Given the description of an element on the screen output the (x, y) to click on. 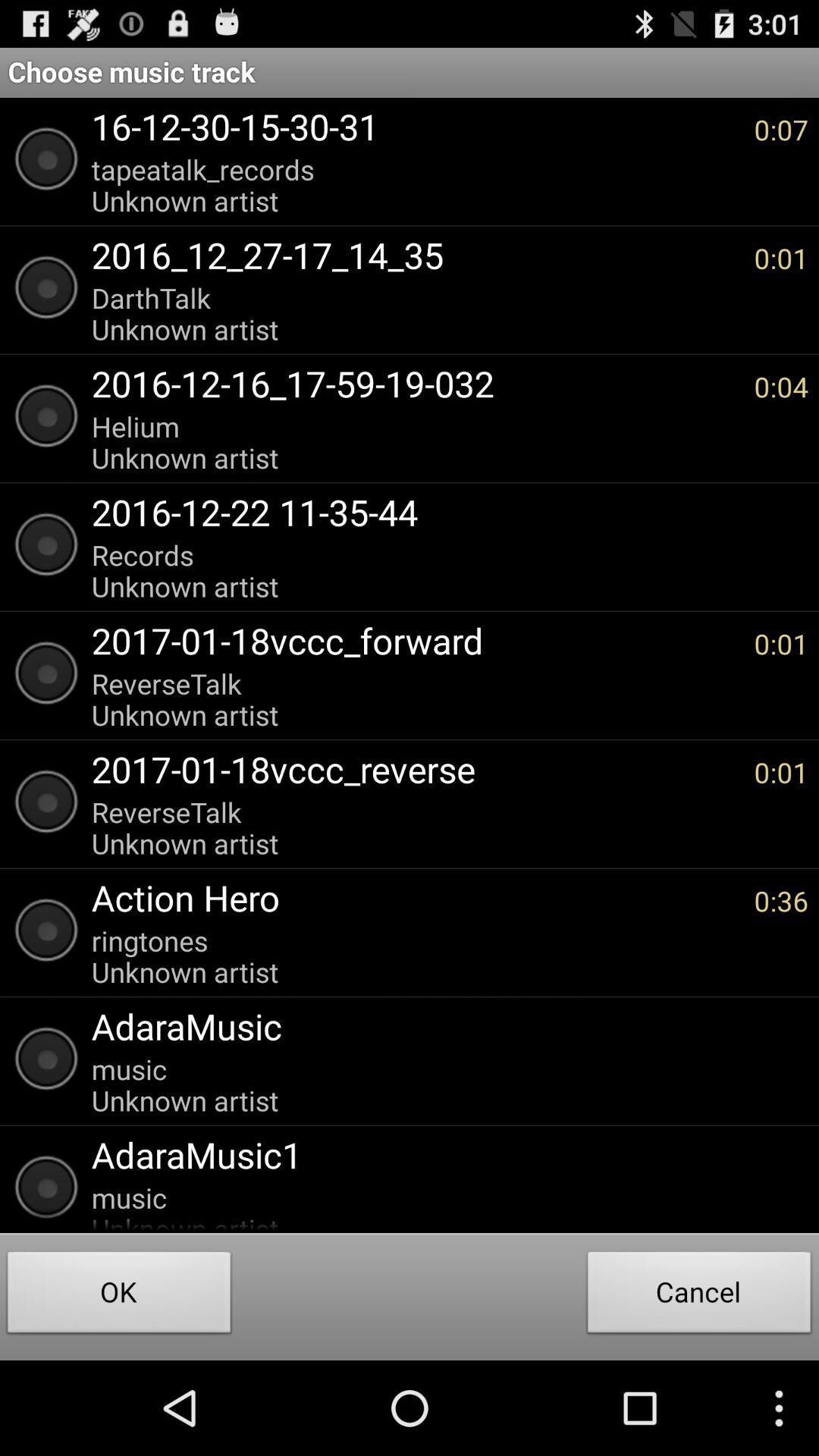
click the app next to the 0:36 item (414, 897)
